Given the description of an element on the screen output the (x, y) to click on. 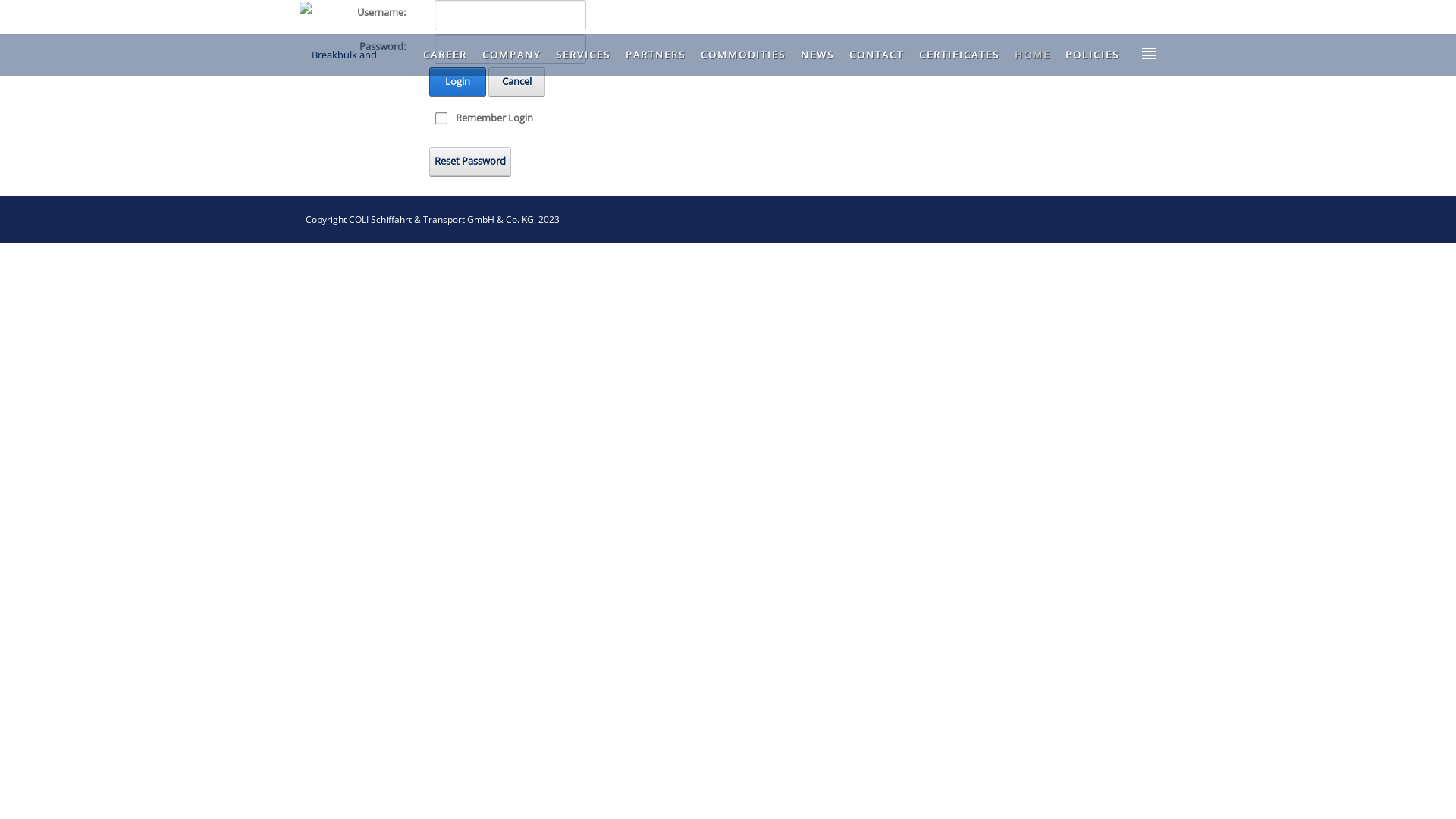
NEWS Element type: text (817, 54)
SERVICES Element type: text (583, 54)
Reset Password Element type: text (470, 161)
COMMODITIES Element type: text (743, 54)
Login Element type: text (457, 81)
CONTACT Element type: text (876, 54)
POLICIES Element type: text (1091, 54)
CERTIFICATES Element type: text (959, 54)
Cancel Element type: text (516, 81)
Breakbulk and heavylift shipping - Coli Shipping Element type: hover (356, 52)
HOME Element type: text (1032, 54)
COMPANY Element type: text (511, 54)
CAREER Element type: text (444, 54)
PARTNERS Element type: text (655, 54)
